Given the description of an element on the screen output the (x, y) to click on. 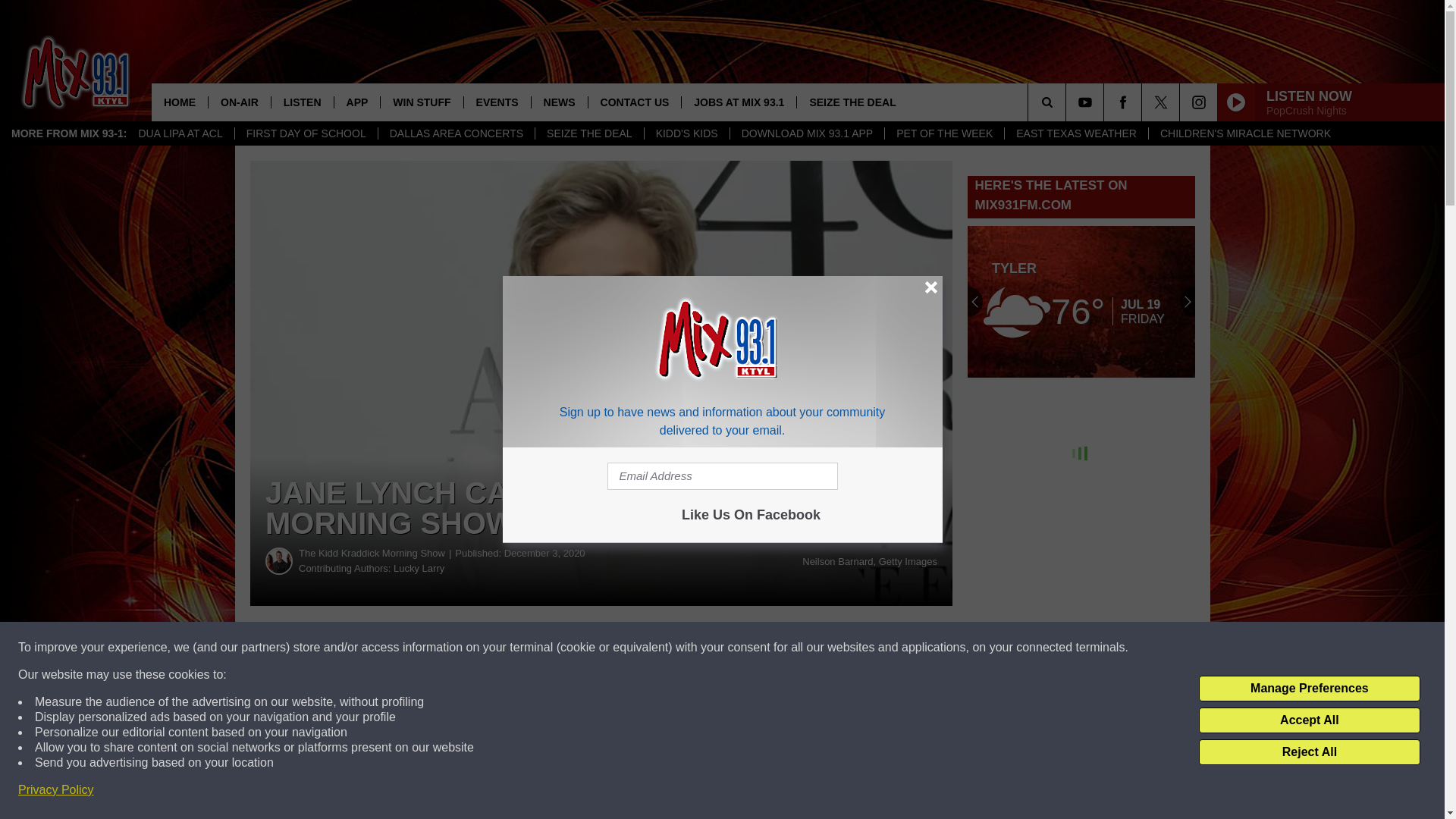
LISTEN (301, 102)
Accept All (1309, 720)
SEARCH (1068, 102)
Share on Twitter (741, 647)
Privacy Policy (55, 789)
SEIZE THE DEAL (588, 133)
ON-AIR (239, 102)
EAST TEXAS WEATHER (1076, 133)
KIDD'S KIDS (686, 133)
PET OF THE WEEK (943, 133)
SEARCH (1068, 102)
Share on Facebook (460, 647)
CHILDREN'S MIRACLE NETWORK (1245, 133)
Reject All (1309, 751)
HOME (179, 102)
